Given the description of an element on the screen output the (x, y) to click on. 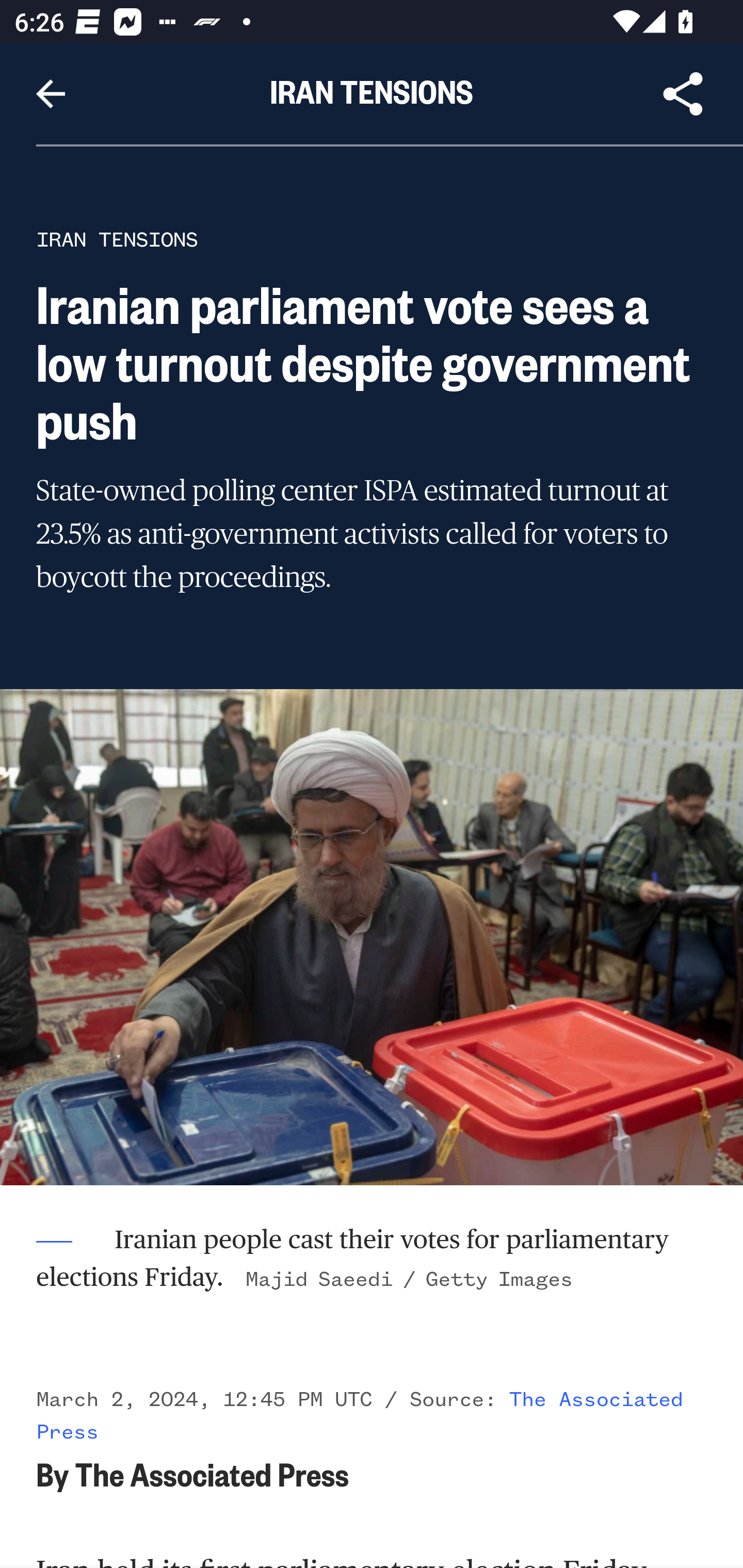
Navigate up (50, 93)
Share Article, button (683, 94)
IRAN TENSIONS (117, 239)
The Associated Press (360, 1415)
